Given the description of an element on the screen output the (x, y) to click on. 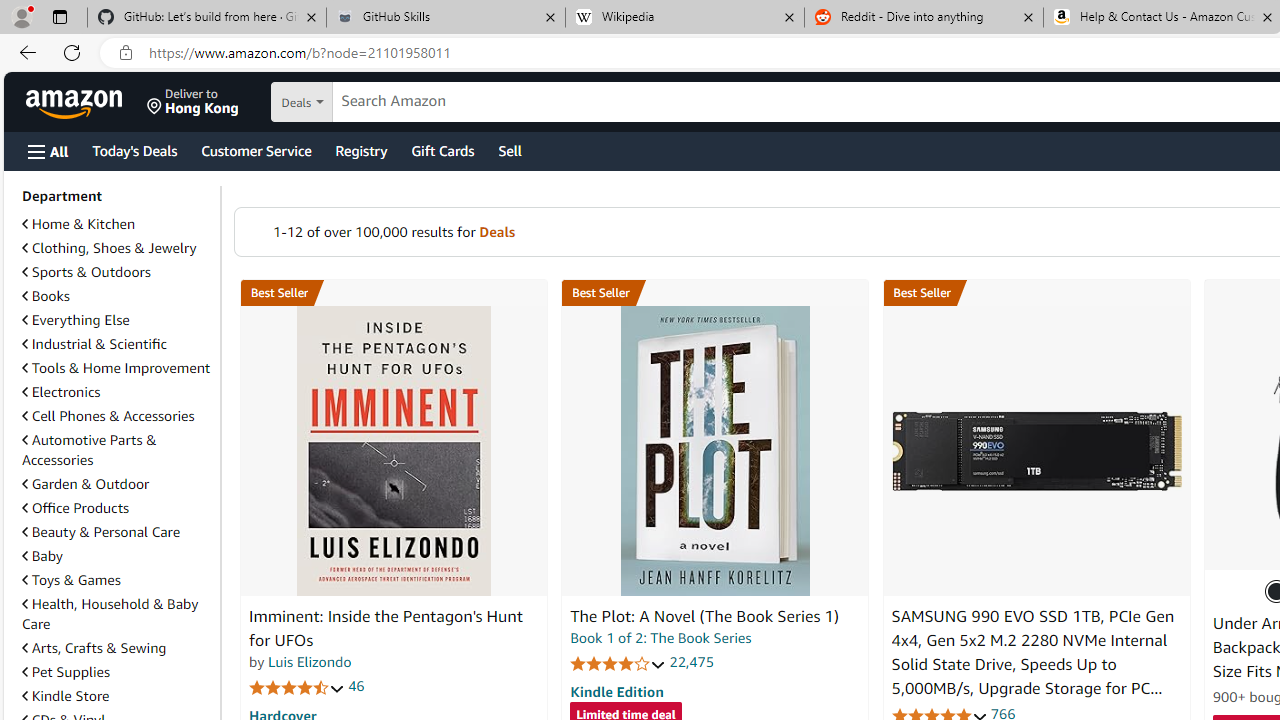
Reddit - Dive into anything (924, 17)
Everything Else (117, 319)
Beauty & Personal Care (117, 532)
Arts, Crafts & Sewing (117, 647)
Tools & Home Improvement (117, 367)
22,475 (691, 662)
Pet Supplies (117, 671)
Industrial & Scientific (117, 344)
Kindle Store (117, 696)
4.2 out of 5 stars (617, 663)
Toys & Games (117, 579)
Books (45, 296)
Clothing, Shoes & Jewelry (109, 248)
